Given the description of an element on the screen output the (x, y) to click on. 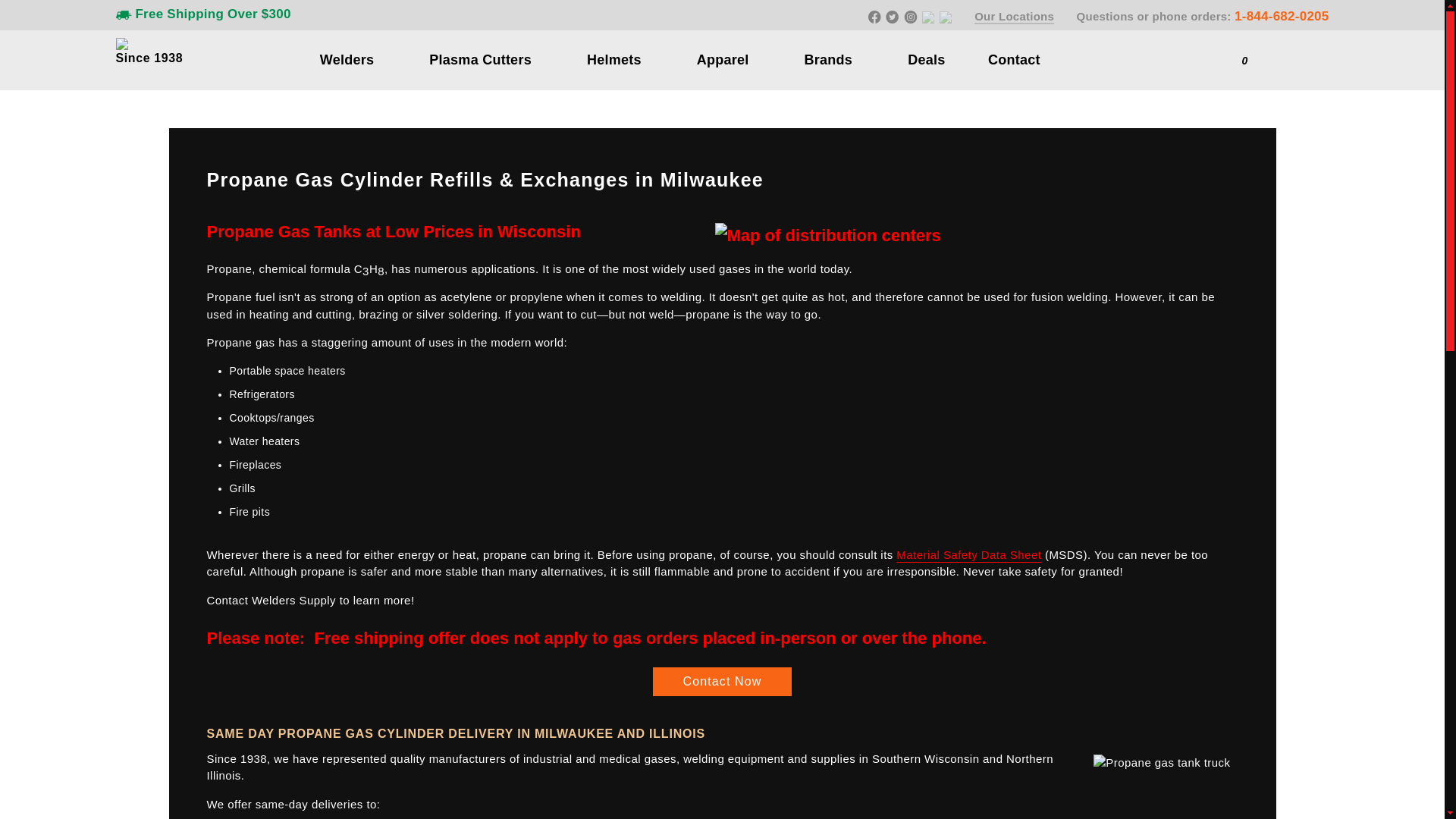
Our Locations (1014, 16)
We Are Welders (121, 43)
Welders (347, 59)
Plasma Cutters (480, 59)
Questions or phone orders: 1-844-682-0205 (1203, 15)
Since 1938 (149, 58)
